Given the description of an element on the screen output the (x, y) to click on. 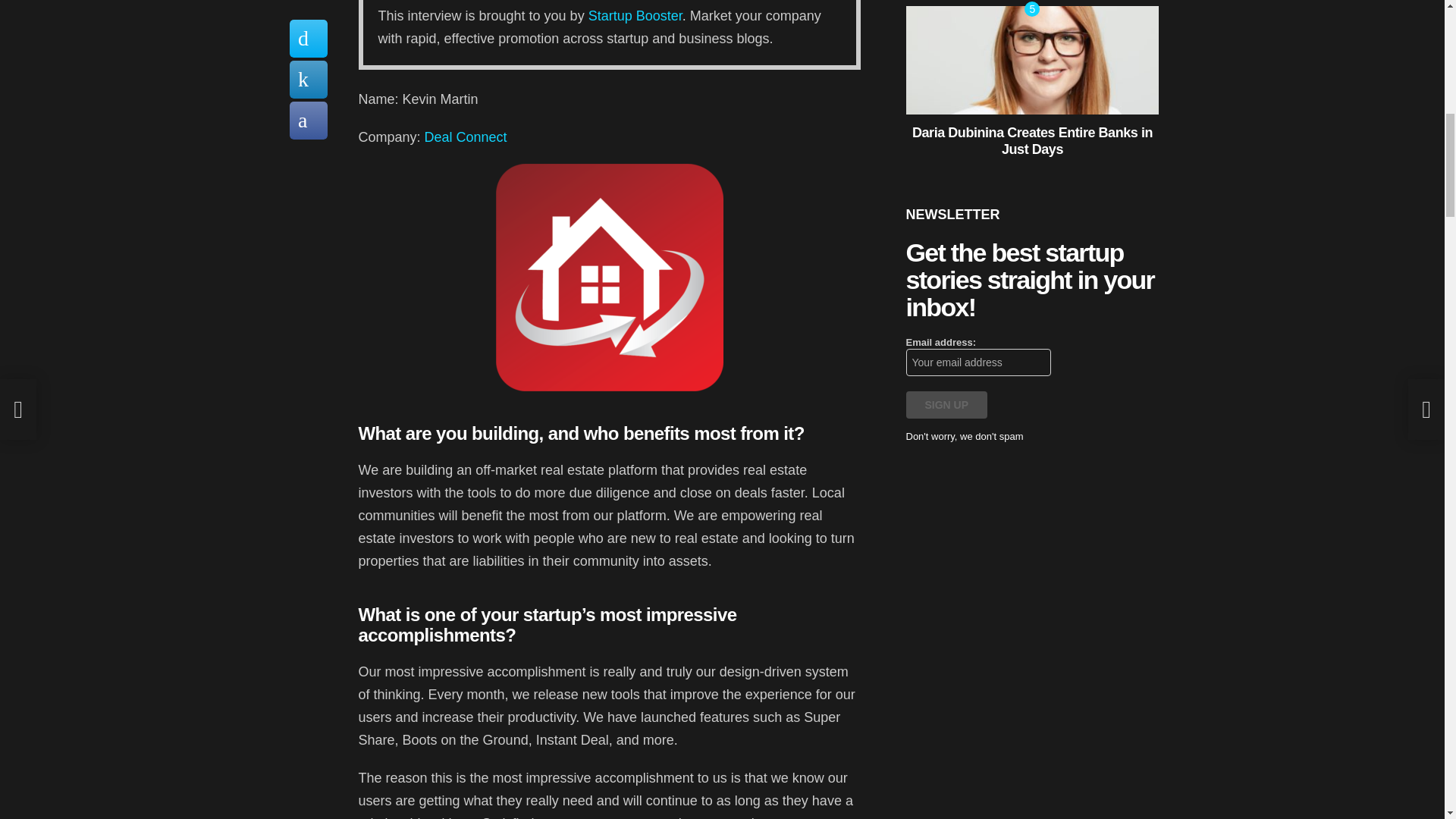
Sign up (946, 404)
Deal Connect (465, 136)
Startup Booster (635, 15)
